Given the description of an element on the screen output the (x, y) to click on. 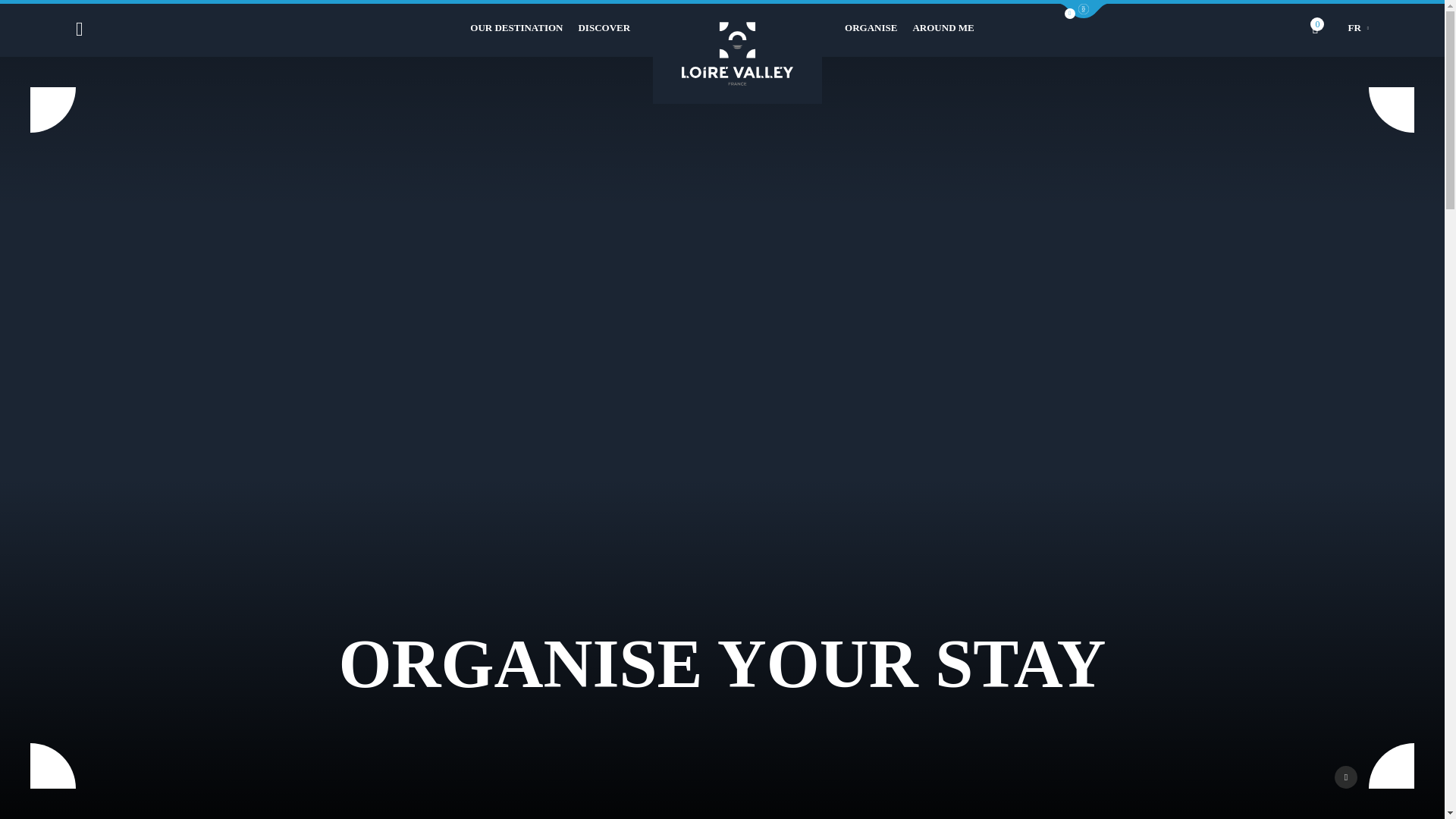
ORGANISE (870, 28)
OUR DESTINATION (516, 28)
AROUND ME (943, 28)
DISCOVER (604, 28)
